Given the description of an element on the screen output the (x, y) to click on. 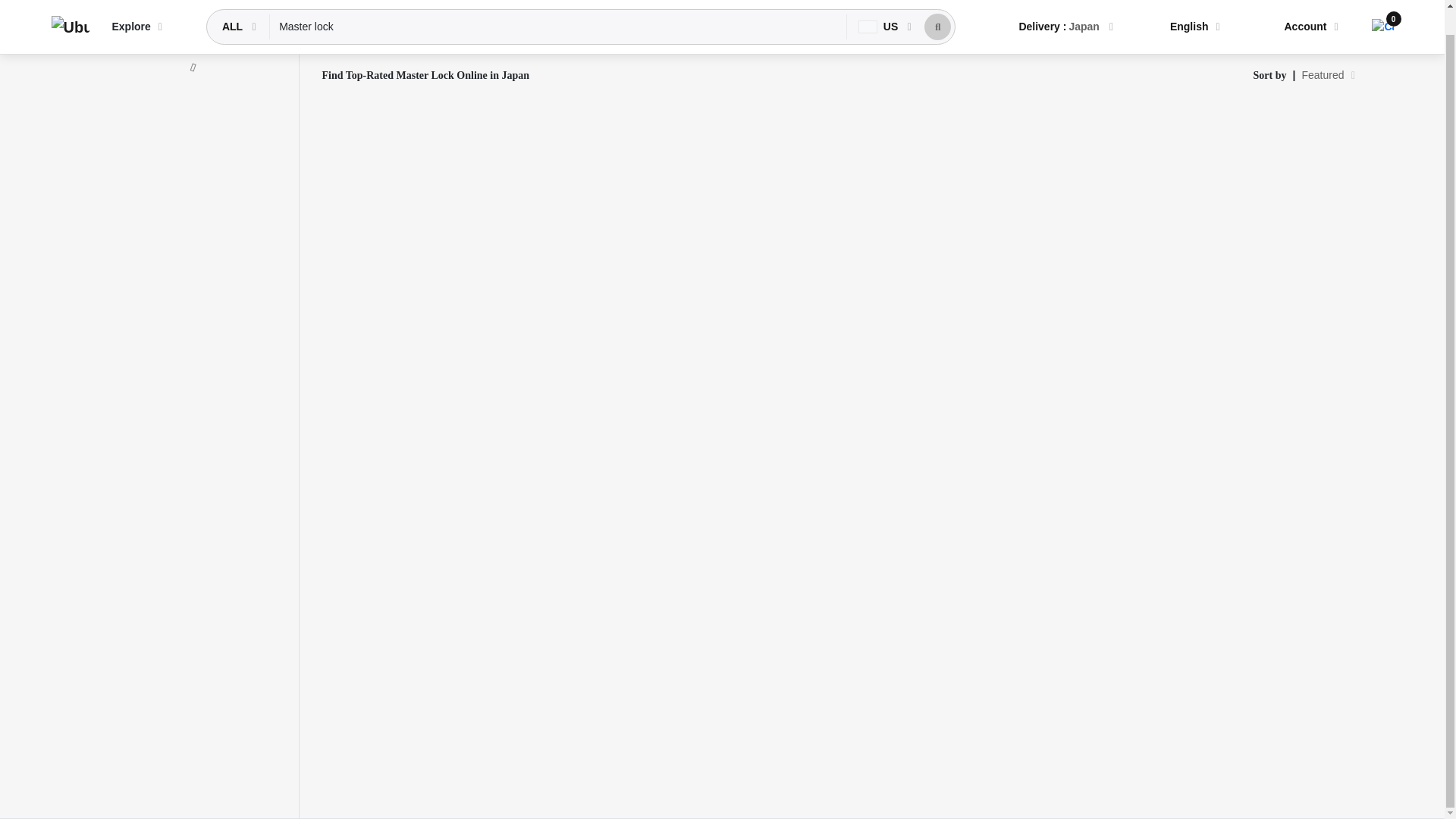
Ubuy (69, 9)
ALL (234, 7)
US (879, 7)
Master lock (558, 7)
0 (1382, 5)
